Given the description of an element on the screen output the (x, y) to click on. 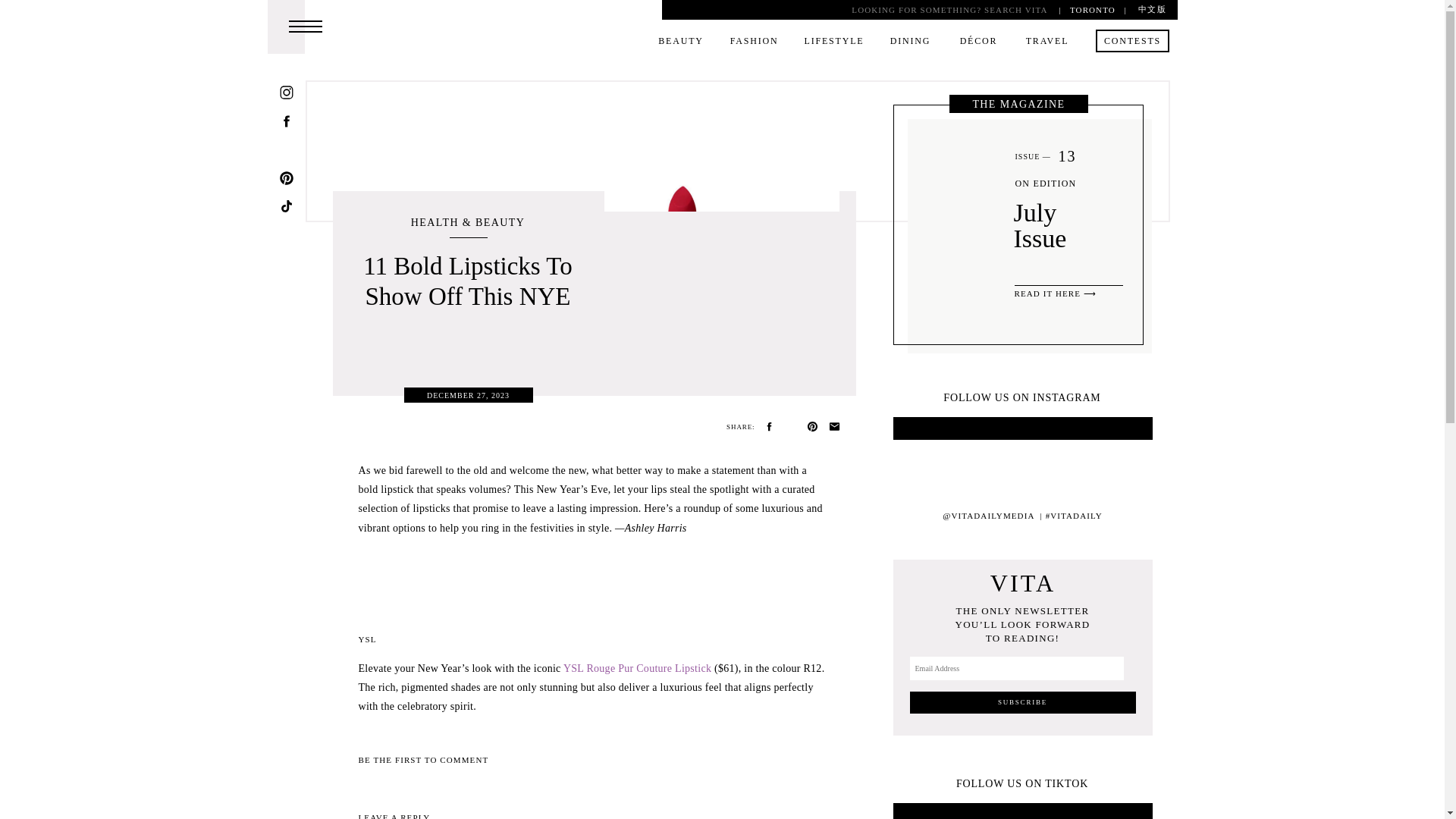
NARS Powermatte Lipstick (664, 763)
Subscribe (1022, 702)
BEAUTY (681, 43)
TORONTO (1092, 9)
YSL Rouge Pur Couture Lipstick (637, 668)
DINING (910, 43)
CONTESTS (1131, 43)
LIFESTYLE (833, 43)
TRAVEL (1046, 43)
Afterglow Sensual Shine Lipstick (453, 781)
FASHION (754, 43)
Subscribe (1022, 702)
